Given the description of an element on the screen output the (x, y) to click on. 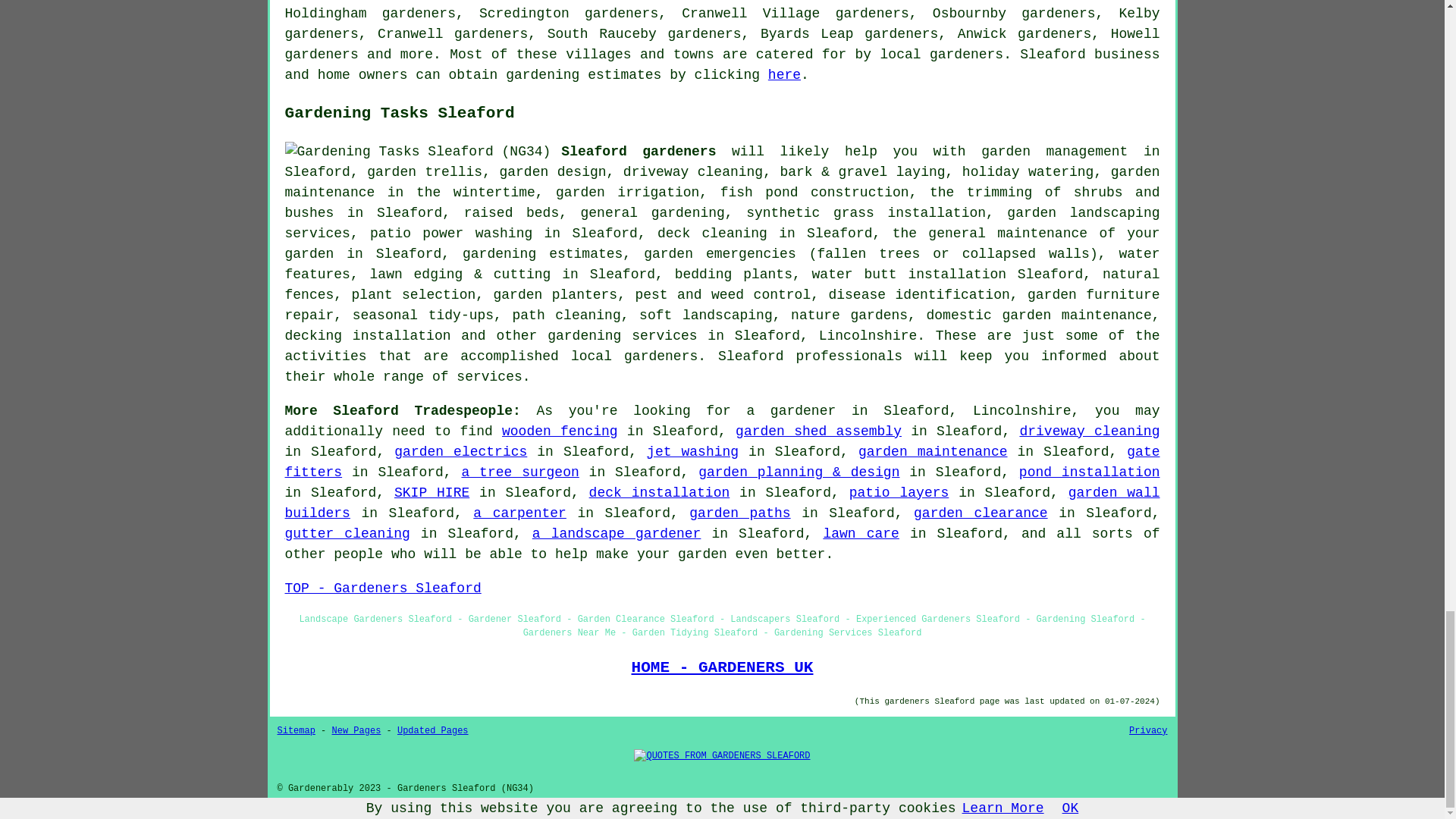
garden landscaping services (722, 222)
gardening (542, 74)
the general maintenance of your garden (722, 243)
general gardening (652, 212)
local gardeners (942, 54)
QUOTES FROM GARDENERS SLEAFORD (721, 755)
